Given the description of an element on the screen output the (x, y) to click on. 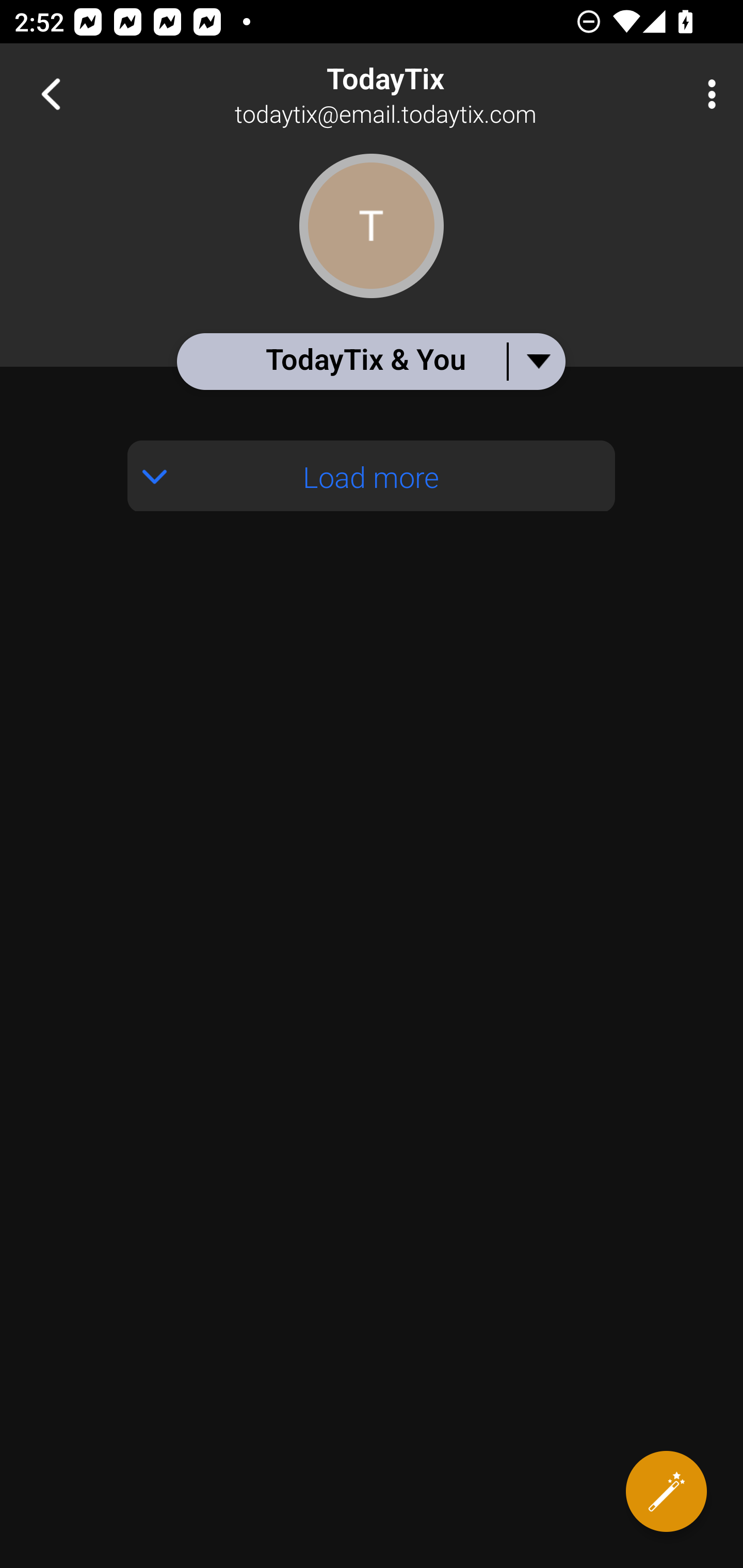
Navigate up (50, 93)
TodayTix todaytix@email.todaytix.com (436, 93)
More Options (706, 93)
TodayTix & You (370, 361)
Load more (371, 475)
